Given the description of an element on the screen output the (x, y) to click on. 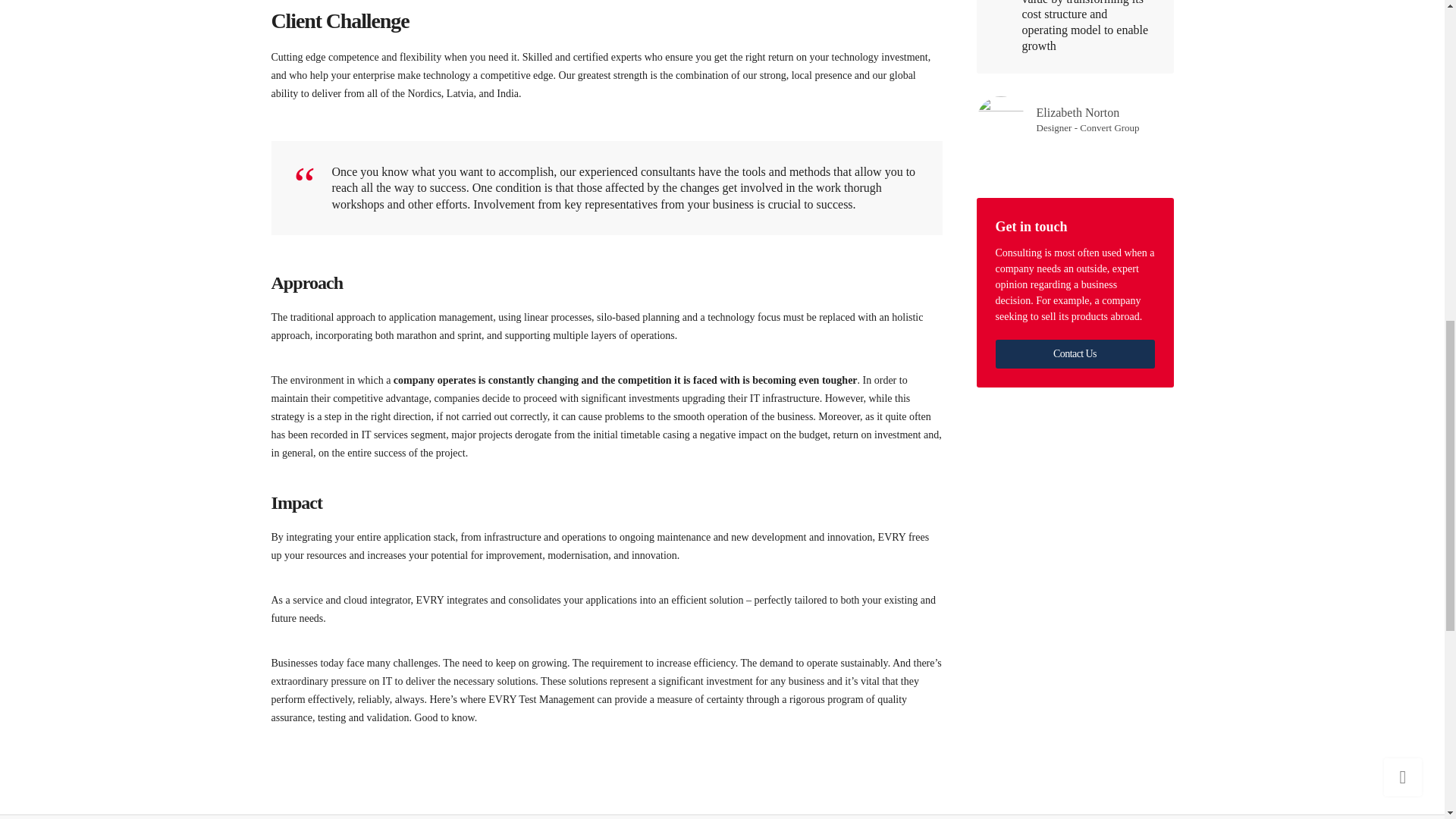
Contact Us (1074, 353)
